Given the description of an element on the screen output the (x, y) to click on. 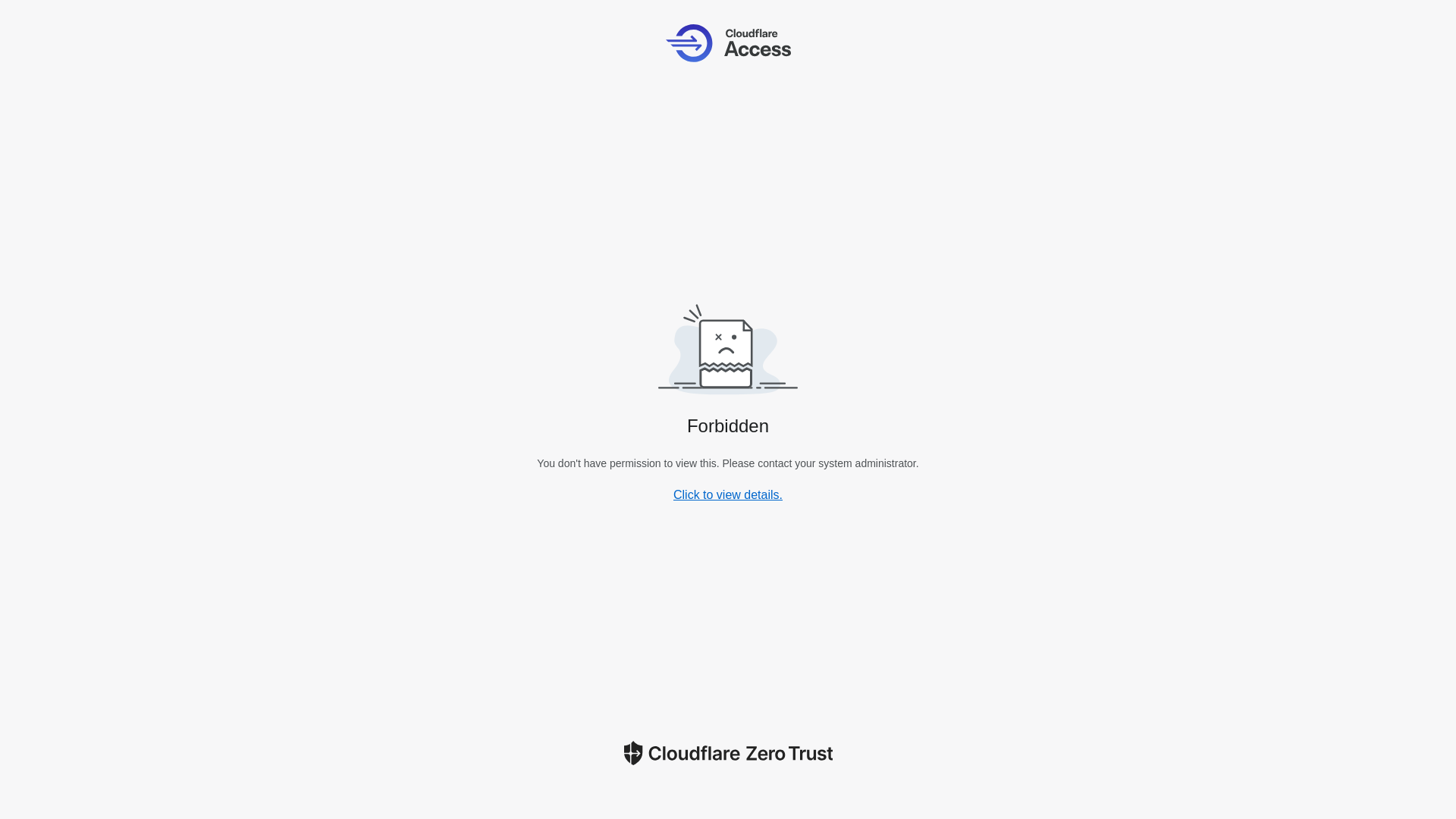
Click to view details. Element type: text (727, 494)
